Given the description of an element on the screen output the (x, y) to click on. 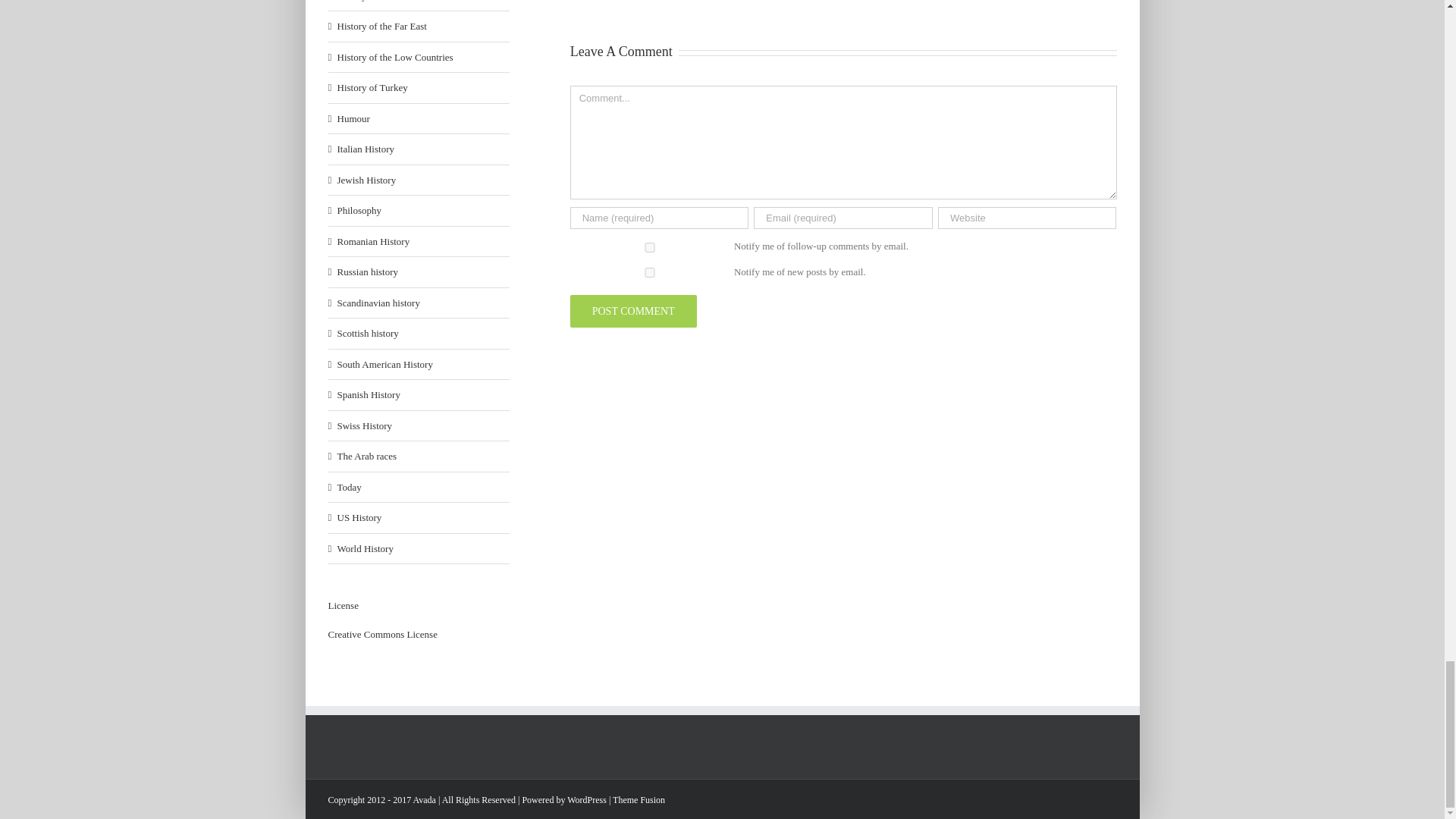
subscribe (649, 247)
Post Comment (633, 310)
subscribe (649, 272)
